Given the description of an element on the screen output the (x, y) to click on. 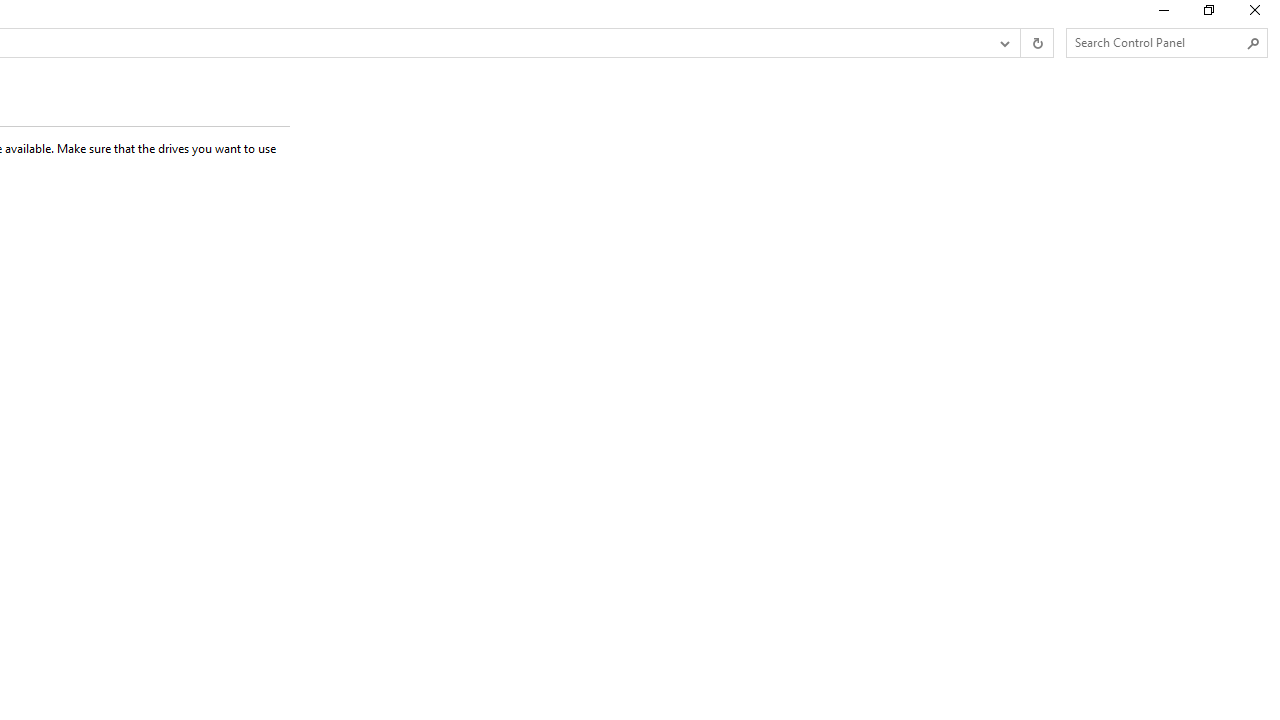
Refresh "Create a storage pool" (F5) (1036, 43)
Previous Locations (1003, 43)
Address band toolbar (1019, 43)
Search (1253, 43)
Search Box (1156, 42)
Minimize (1162, 14)
Restore (1208, 14)
